Given the description of an element on the screen output the (x, y) to click on. 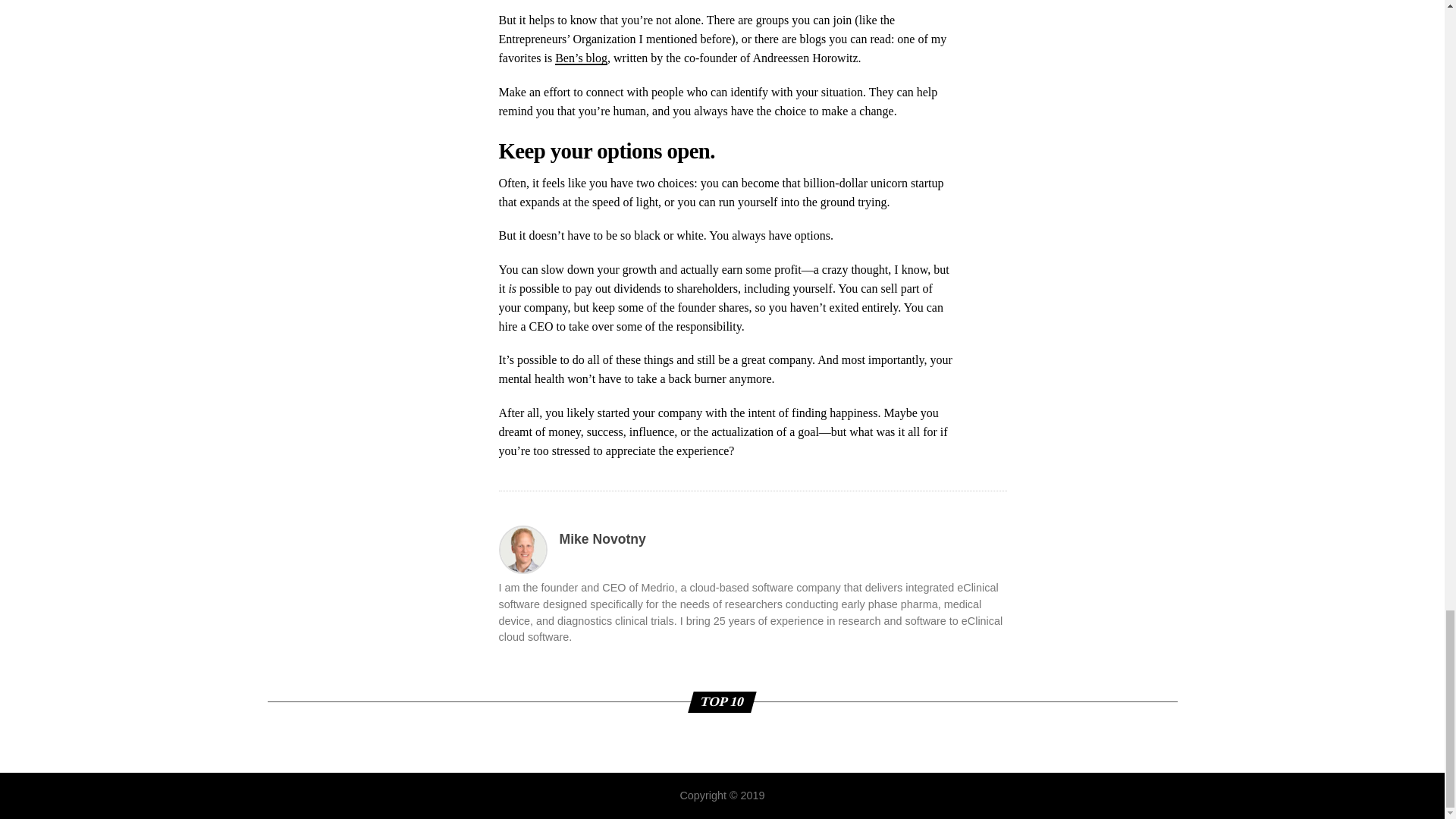
Mike Novotny (602, 539)
Posts by Mike Novotny (602, 539)
